Given the description of an element on the screen output the (x, y) to click on. 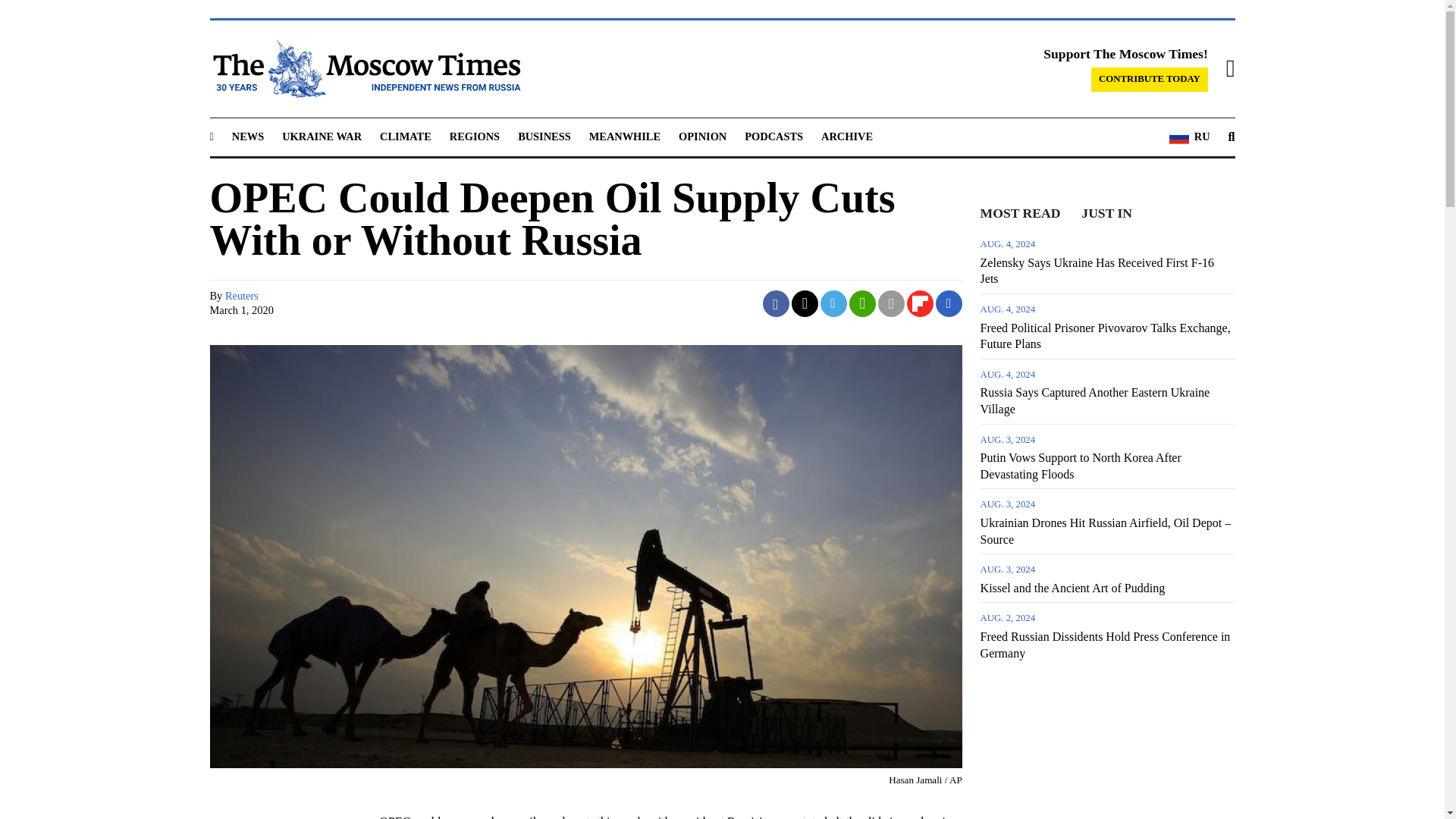
Share on Facebook (775, 303)
CONTRIBUTE TODAY (1149, 79)
BUSINESS (544, 136)
The Moscow Times - Independent News from Russia (364, 68)
UKRAINE WAR (321, 136)
Share on Twitter (805, 303)
ARCHIVE (846, 136)
CLIMATE (405, 136)
PODCASTS (773, 136)
REGIONS (474, 136)
Reuters (242, 295)
NEWS (247, 136)
OPINION (702, 136)
MEANWHILE (625, 136)
Share on Telegram (834, 303)
